Given the description of an element on the screen output the (x, y) to click on. 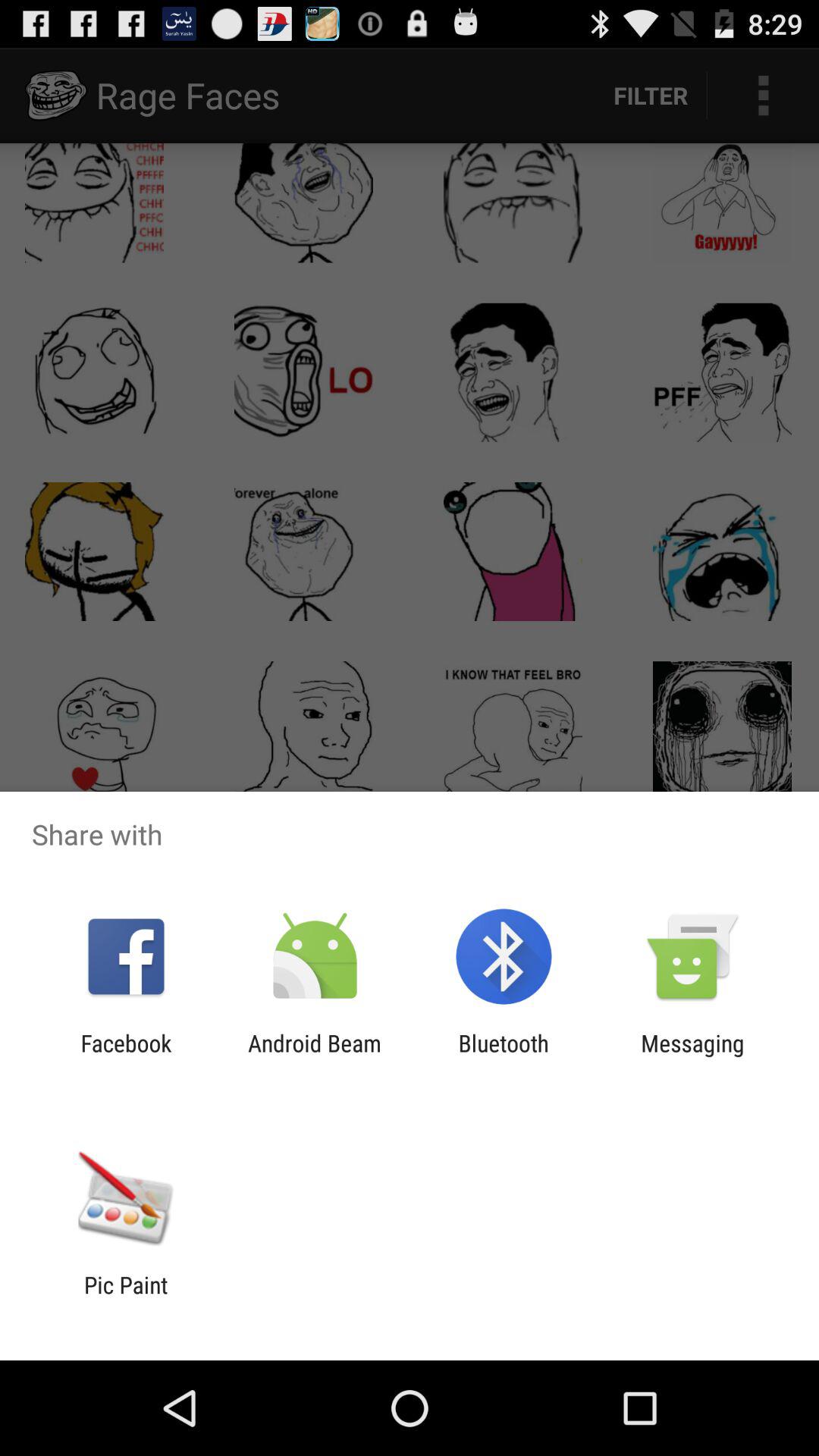
click icon next to the bluetooth icon (692, 1056)
